Given the description of an element on the screen output the (x, y) to click on. 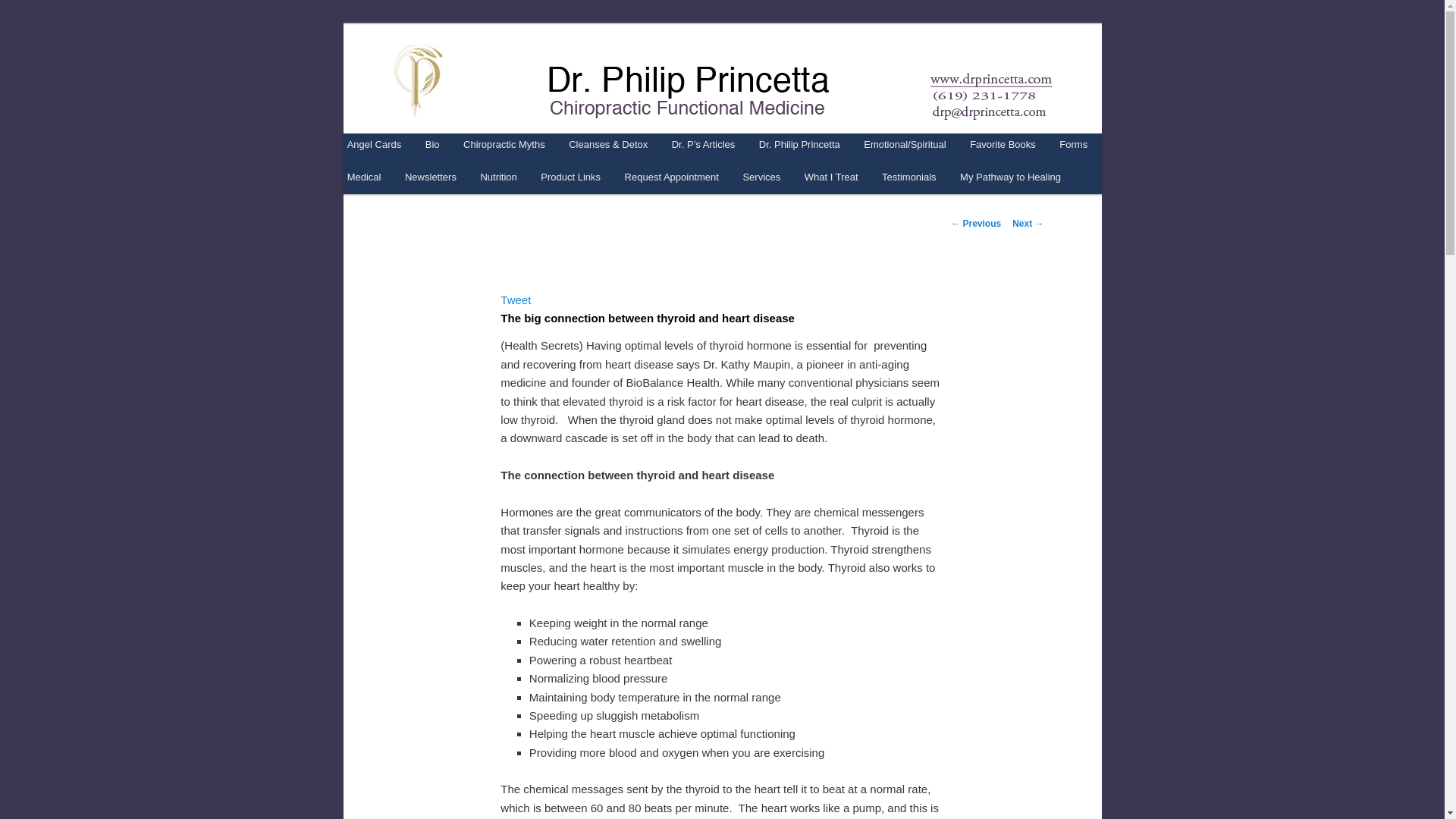
Bio (432, 143)
Services (761, 176)
Dr. Philip Princetta (501, 78)
Angel Cards (373, 143)
What I Treat (830, 176)
Dr. Philip Princetta (798, 143)
Chiropractic Myths (503, 143)
Product Links (570, 176)
My Pathway to Healing (1009, 176)
Forms (1073, 143)
Request Appointment (671, 176)
Nutrition (498, 176)
Medical (363, 176)
Newsletters (430, 176)
